Given the description of an element on the screen output the (x, y) to click on. 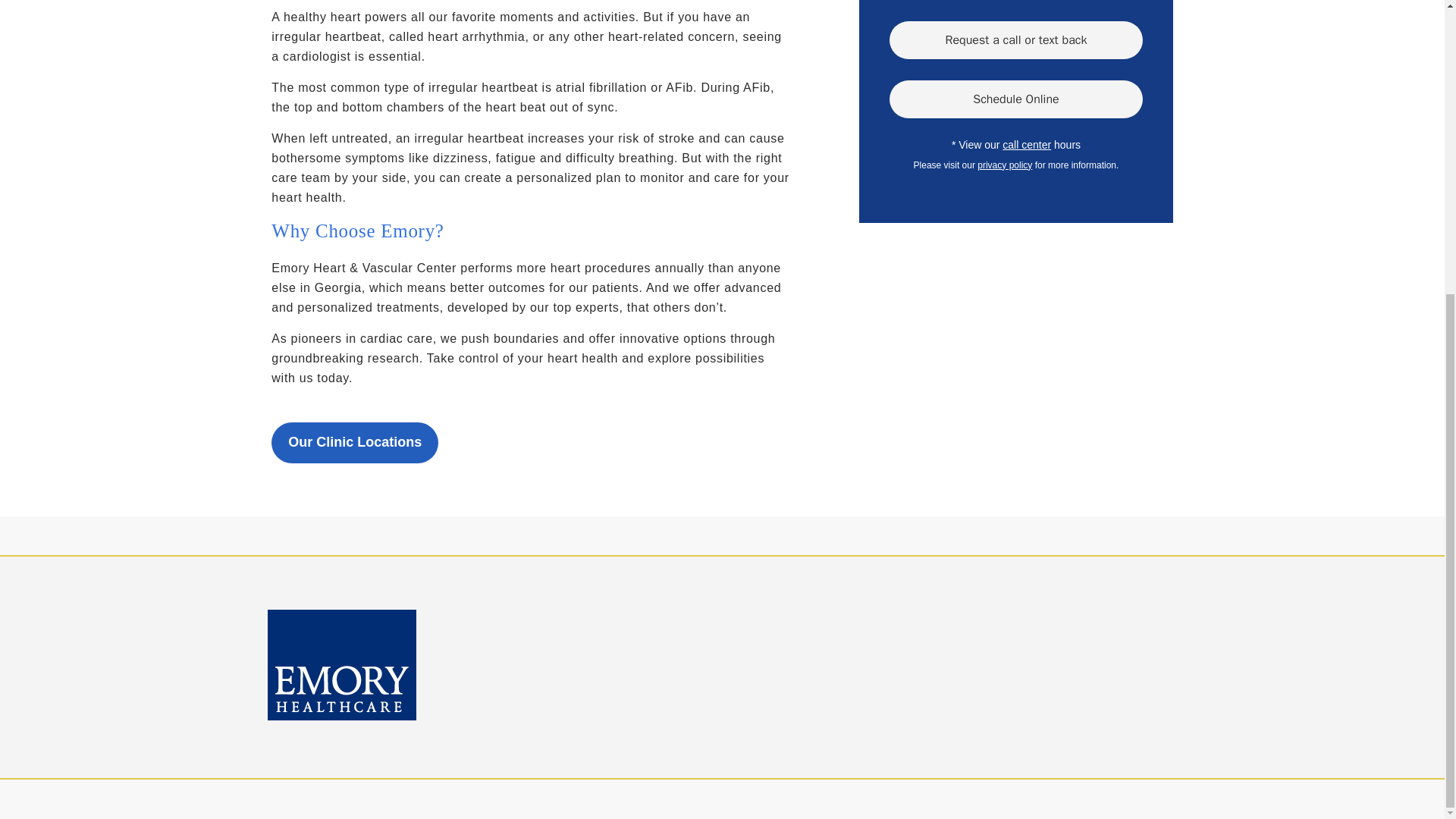
Schedule Online (1015, 98)
Request a call or text back (1015, 39)
Our Clinic Locations (354, 442)
privacy policy (1004, 163)
